Given the description of an element on the screen output the (x, y) to click on. 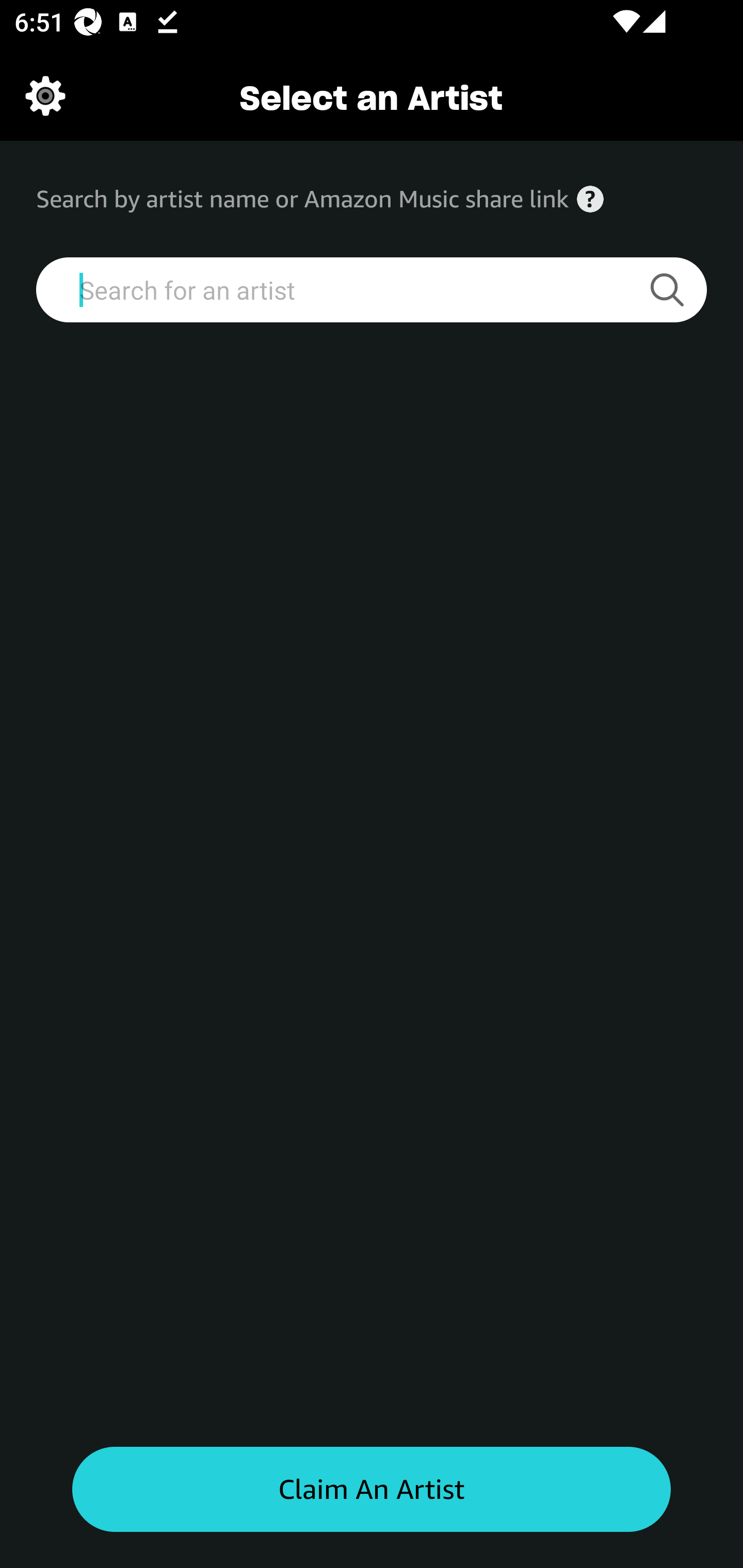
Help  icon (589, 199)
Claim an artist button Claim An Artist (371, 1489)
